Given the description of an element on the screen output the (x, y) to click on. 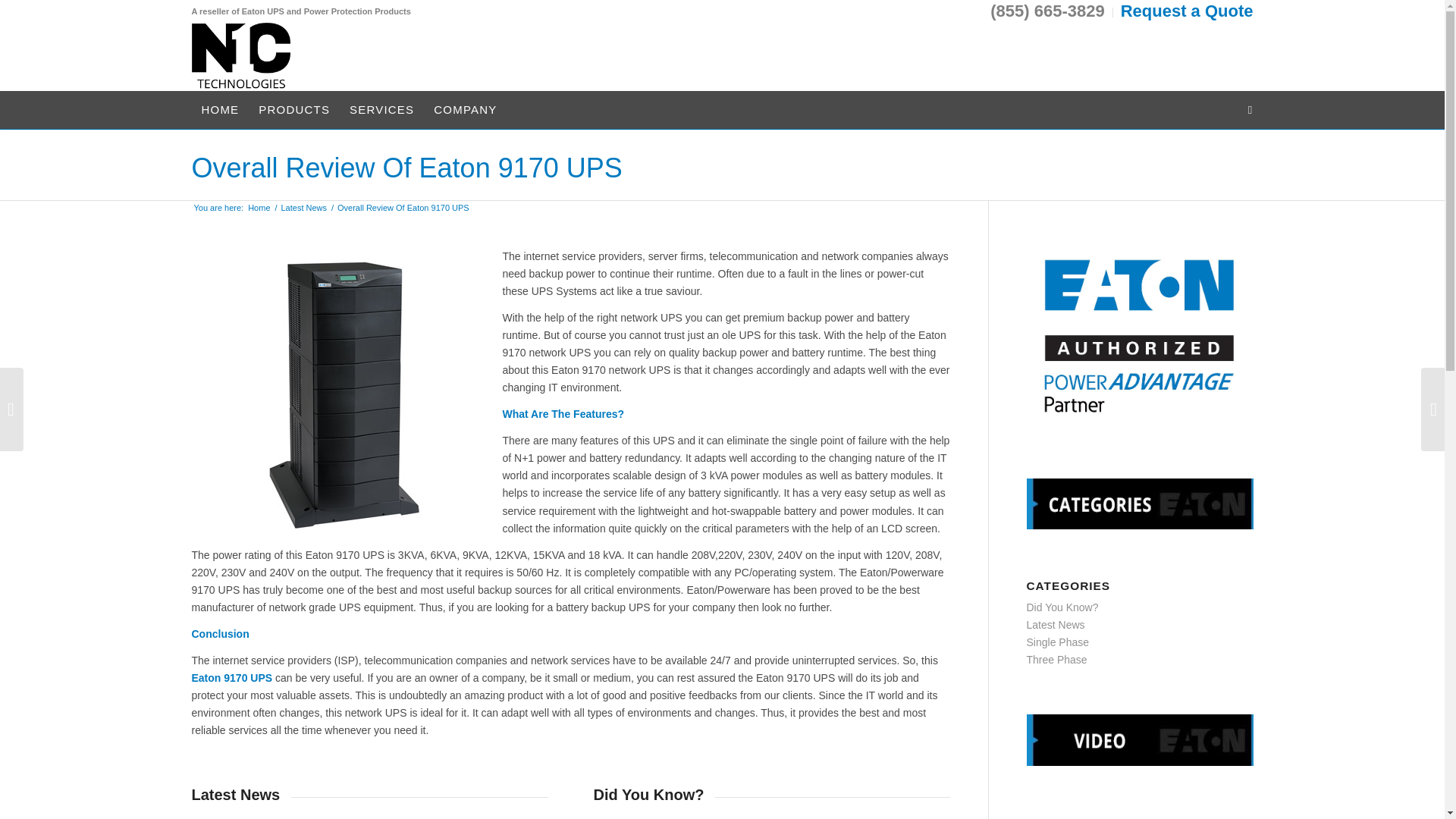
HOME (219, 109)
PRODUCTS (293, 109)
Permanent Link: Overall Review Of Eaton 9170 UPS (405, 168)
N1C-Eaton (259, 207)
n1-ct1-logo-eaton (239, 56)
Request a Quote (1187, 12)
